Given the description of an element on the screen output the (x, y) to click on. 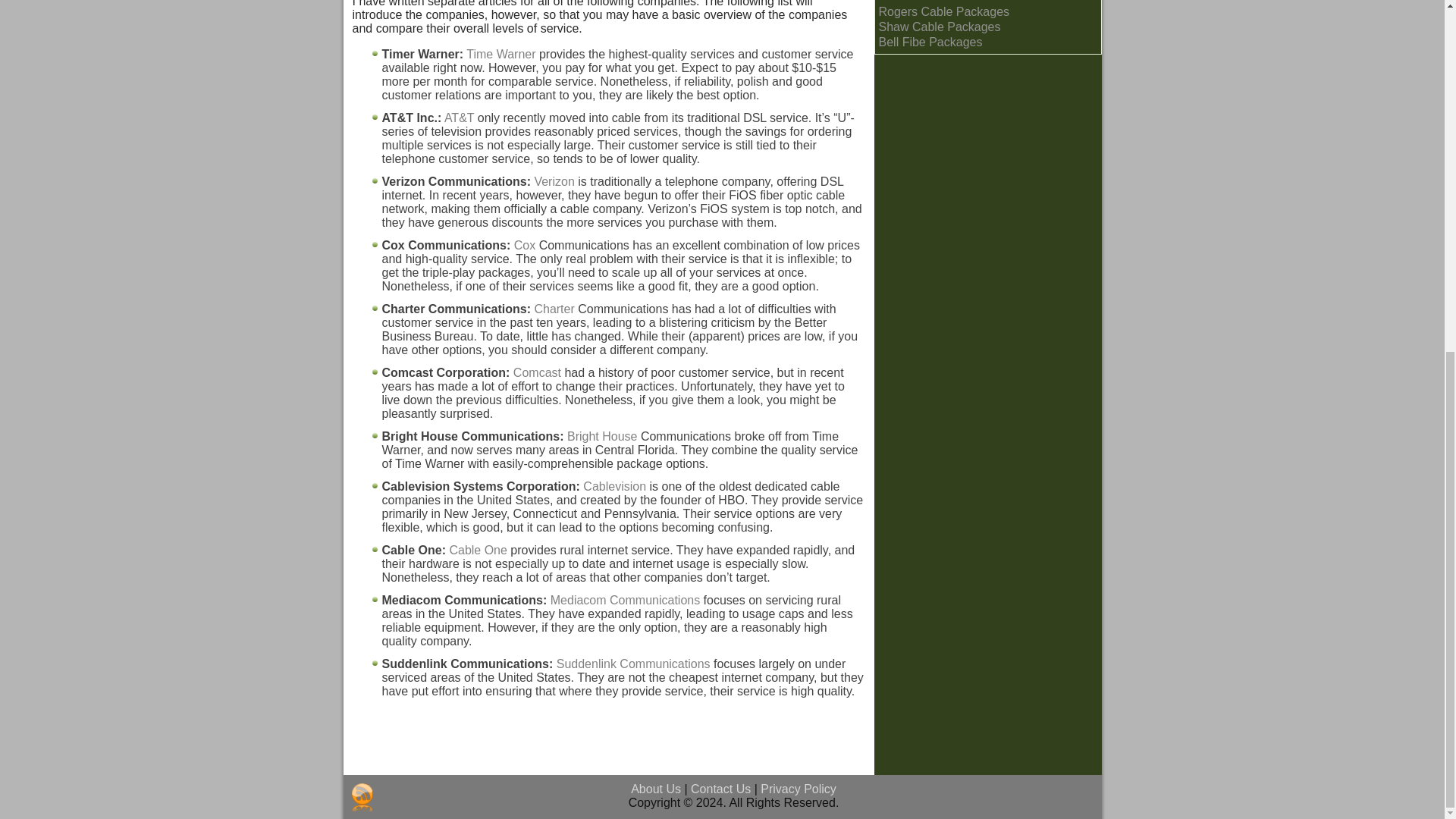
Advertisement (608, 756)
Time Warner (500, 53)
Bright House (602, 436)
Cox (524, 245)
Mediacom Communications (625, 599)
Cable One (477, 549)
Comcast (536, 372)
Suddenlink Communications (633, 663)
Verizon (553, 181)
Charter (553, 308)
Cablevision (614, 486)
